Given the description of an element on the screen output the (x, y) to click on. 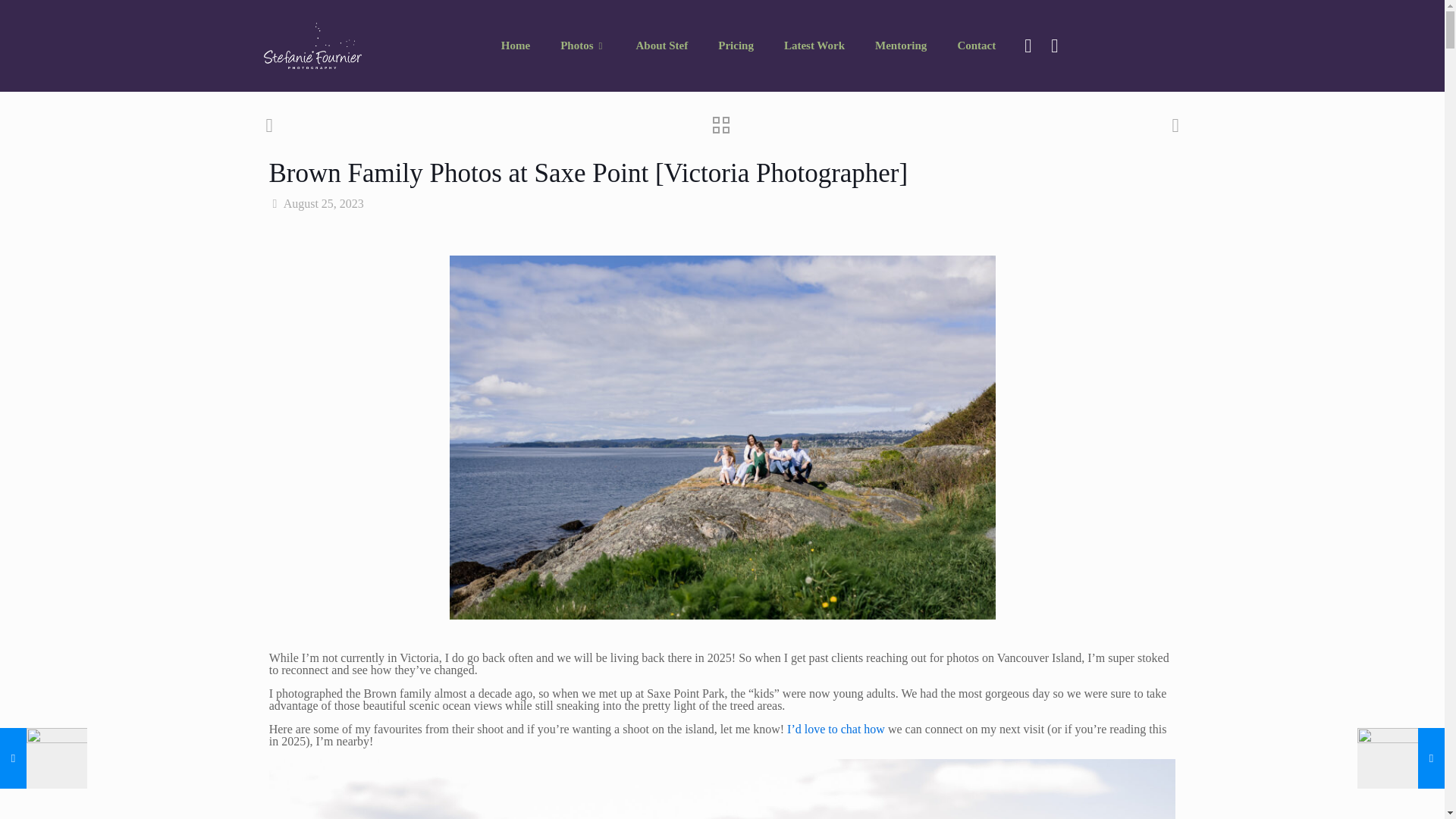
Instagram (1054, 45)
Latest Work (814, 45)
Home (515, 45)
Facebook (1026, 45)
Photos (582, 45)
About Stef (661, 45)
Contact (976, 45)
Pricing (735, 45)
Mentoring (901, 45)
